Given the description of an element on the screen output the (x, y) to click on. 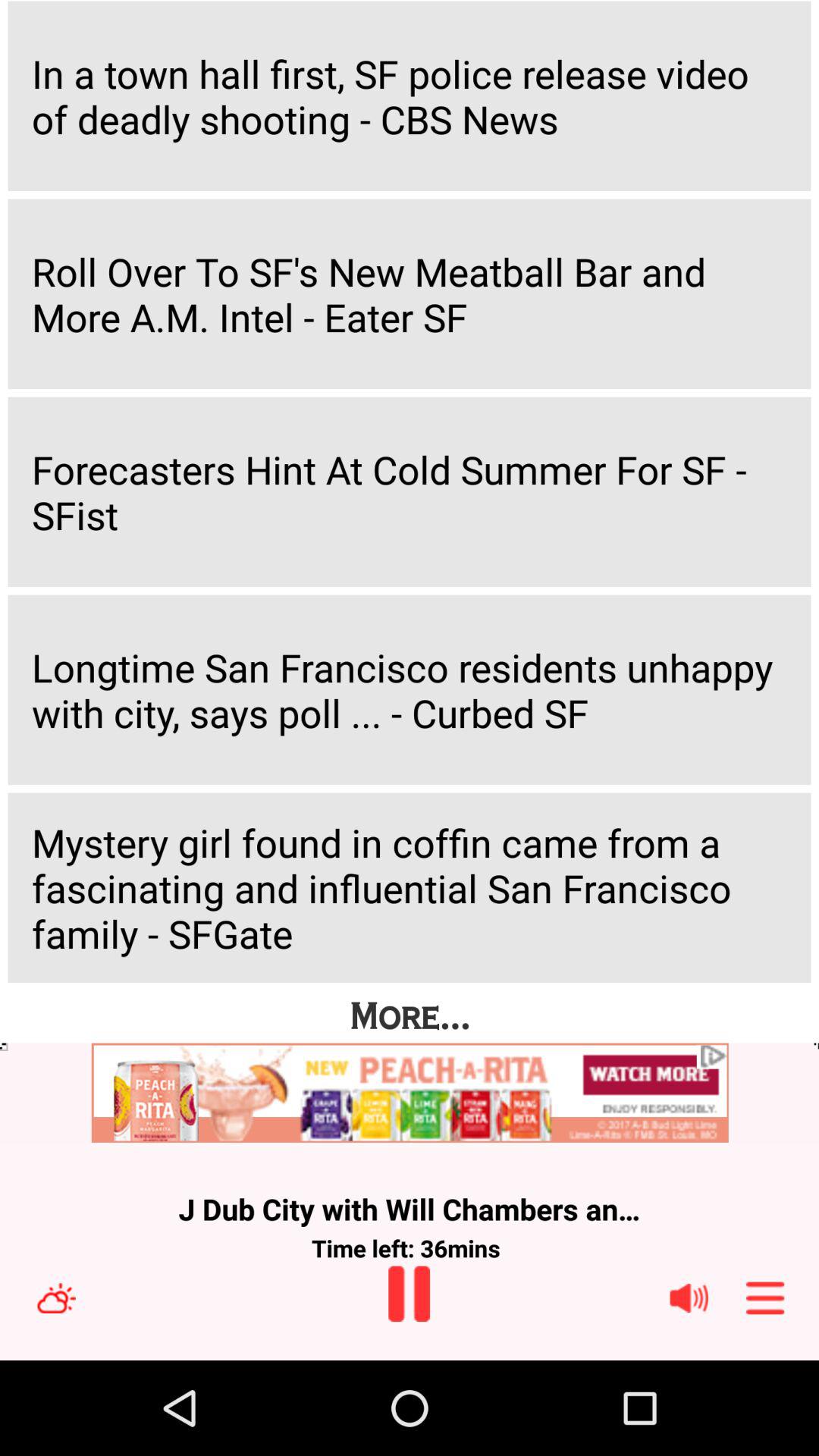
advertisement banner (409, 1093)
